Given the description of an element on the screen output the (x, y) to click on. 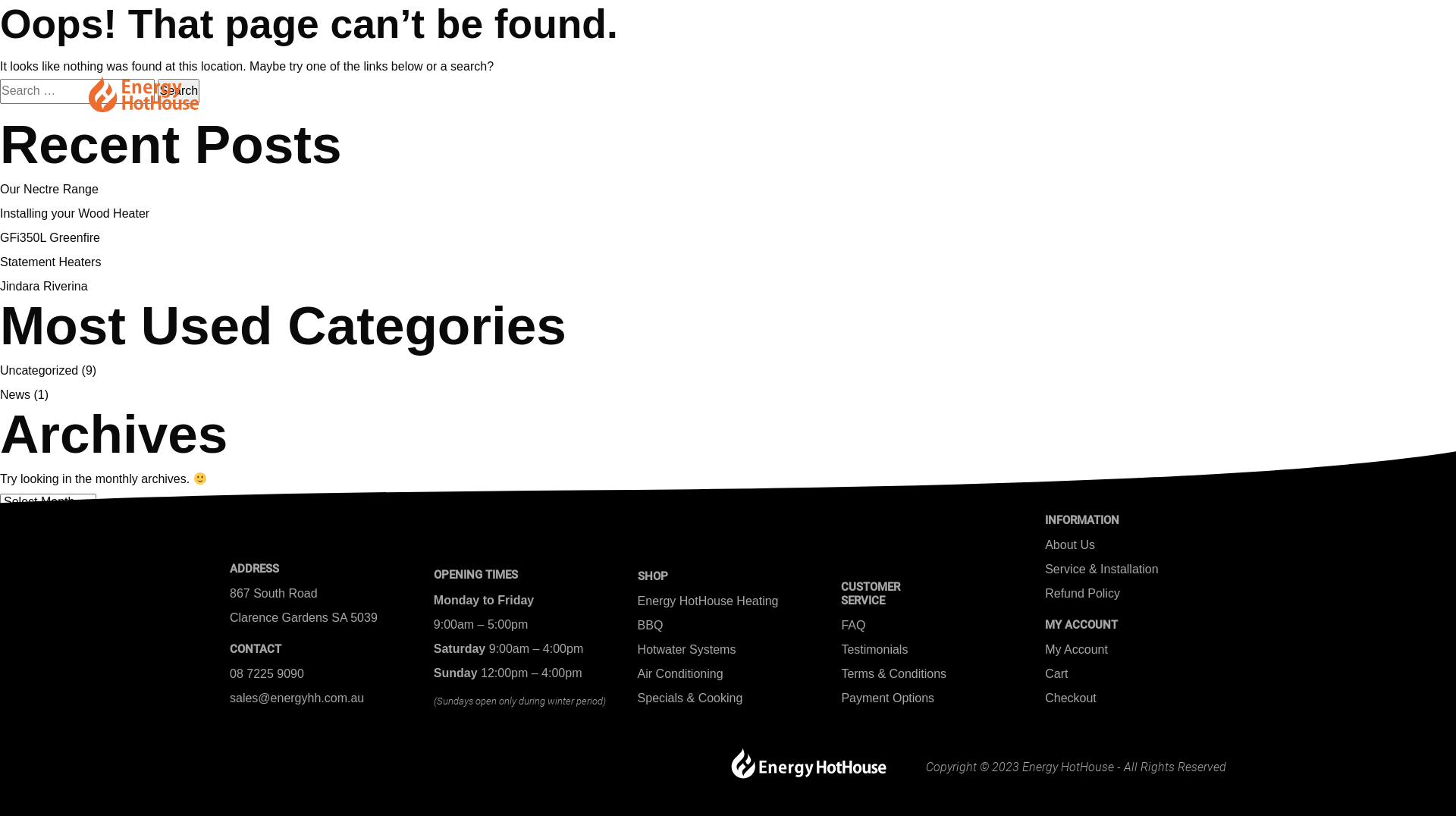
Refund Policy Element type: text (1082, 592)
About Us Element type: text (1069, 544)
FAQ Element type: text (852, 624)
News Element type: text (15, 394)
Service & Installation Element type: text (1100, 568)
ABOUT US Element type: text (426, 89)
08 7225 9090 Element type: text (266, 673)
Our Nectre Range Element type: text (49, 188)
BLOG Element type: text (1094, 89)
Hotwater Systems Element type: text (686, 649)
TESTMONIALS Element type: text (600, 89)
Jindara Riverina Element type: text (43, 285)
info@adelaideappliance.com.au Element type: text (1284, 26)
Search Element type: text (178, 90)
Checkout Element type: text (1070, 697)
Specials & Cooking Element type: text (690, 697)
MY ACCOUNT Element type: text (1259, 97)
BBQ Element type: text (650, 624)
SERVICE & INSTALLATION Element type: text (767, 89)
sales@energyhh.com.au Element type: text (296, 697)
My Account Element type: text (1075, 649)
SIGN UP Element type: text (1275, 69)
FAQ Element type: text (506, 89)
Payment Options Element type: text (887, 697)
SHOP Element type: text (1023, 89)
Installing your Wood Heater Element type: text (74, 213)
HOME Element type: text (339, 89)
+61 (08) 7225 9090 Element type: text (1123, 26)
GFi350L Greenfire Element type: text (50, 237)
Terms & Conditions Element type: text (893, 673)
Uncategorized Element type: text (39, 370)
Statement Heaters Element type: text (50, 261)
Energy HotHouse Heating Element type: text (707, 600)
CONTACT US Element type: text (929, 89)
Air Conditioning Element type: text (680, 673)
Testimonials Element type: text (873, 649)
Cart Element type: text (1055, 673)
